Given the description of an element on the screen output the (x, y) to click on. 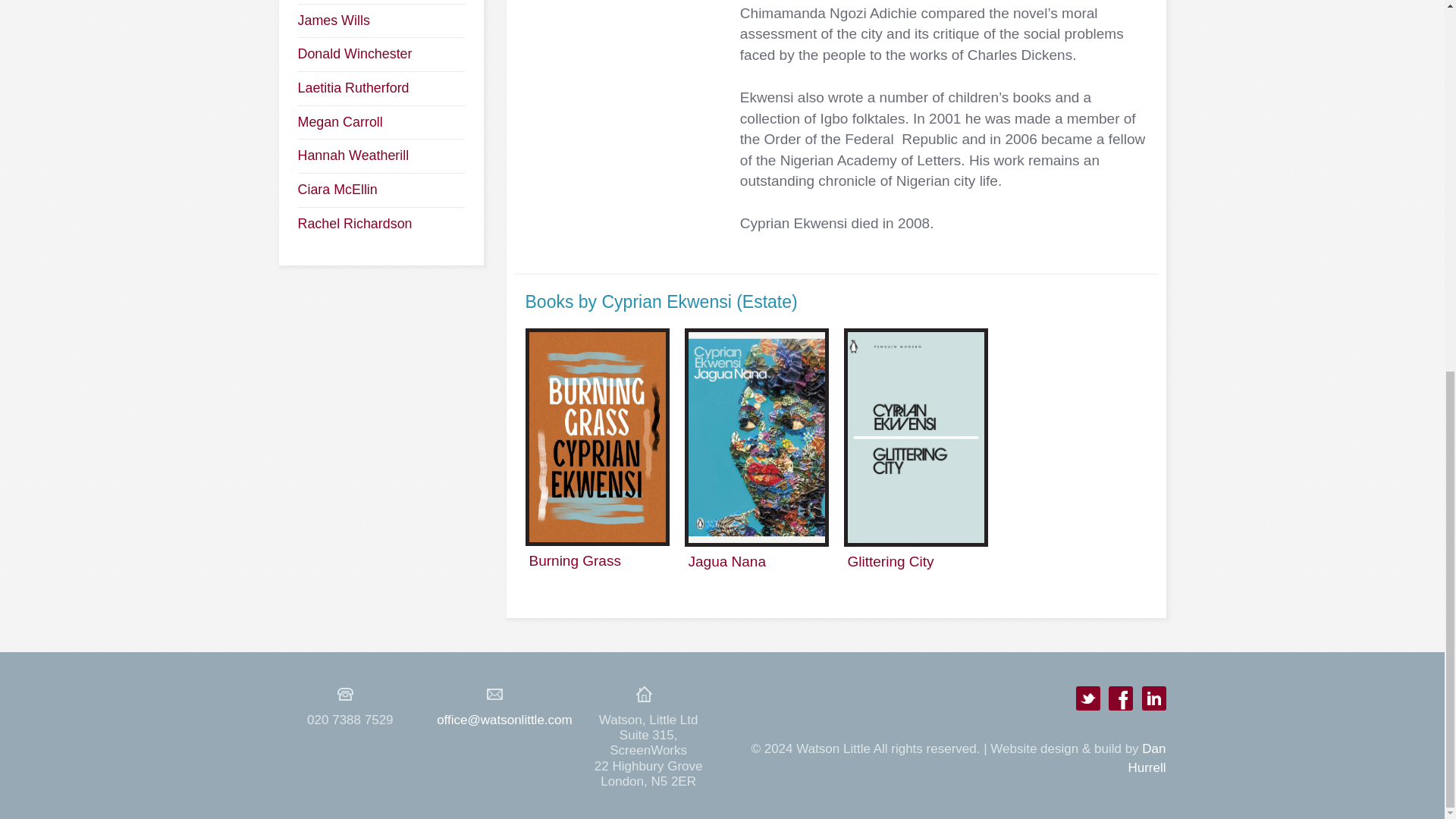
Glittering City (890, 561)
Glittering City (890, 561)
Megan Carroll (339, 121)
Burning Grass (575, 560)
James Wills (333, 20)
Dan Hurrell (1146, 758)
Burning Grass (575, 560)
Ciara McEllin (337, 189)
Hannah Weatherill (353, 155)
Rachel Richardson (354, 223)
Jagua Nana (726, 561)
Jagua Nana (726, 561)
Donald Winchester (354, 53)
Laetitia Rutherford (353, 87)
